Given the description of an element on the screen output the (x, y) to click on. 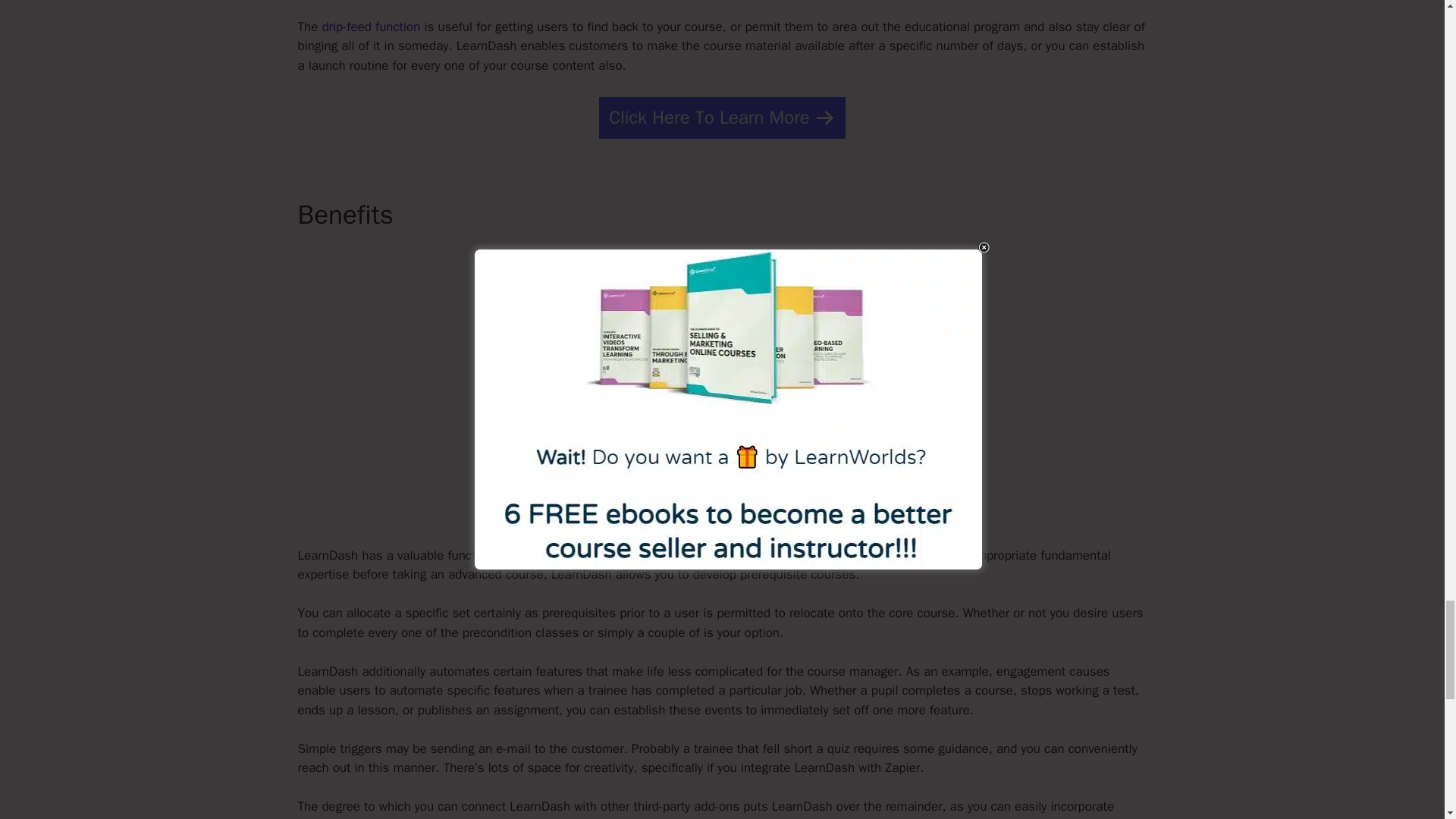
Click Here To Learn More (721, 117)
drip-feed function (370, 26)
